Given the description of an element on the screen output the (x, y) to click on. 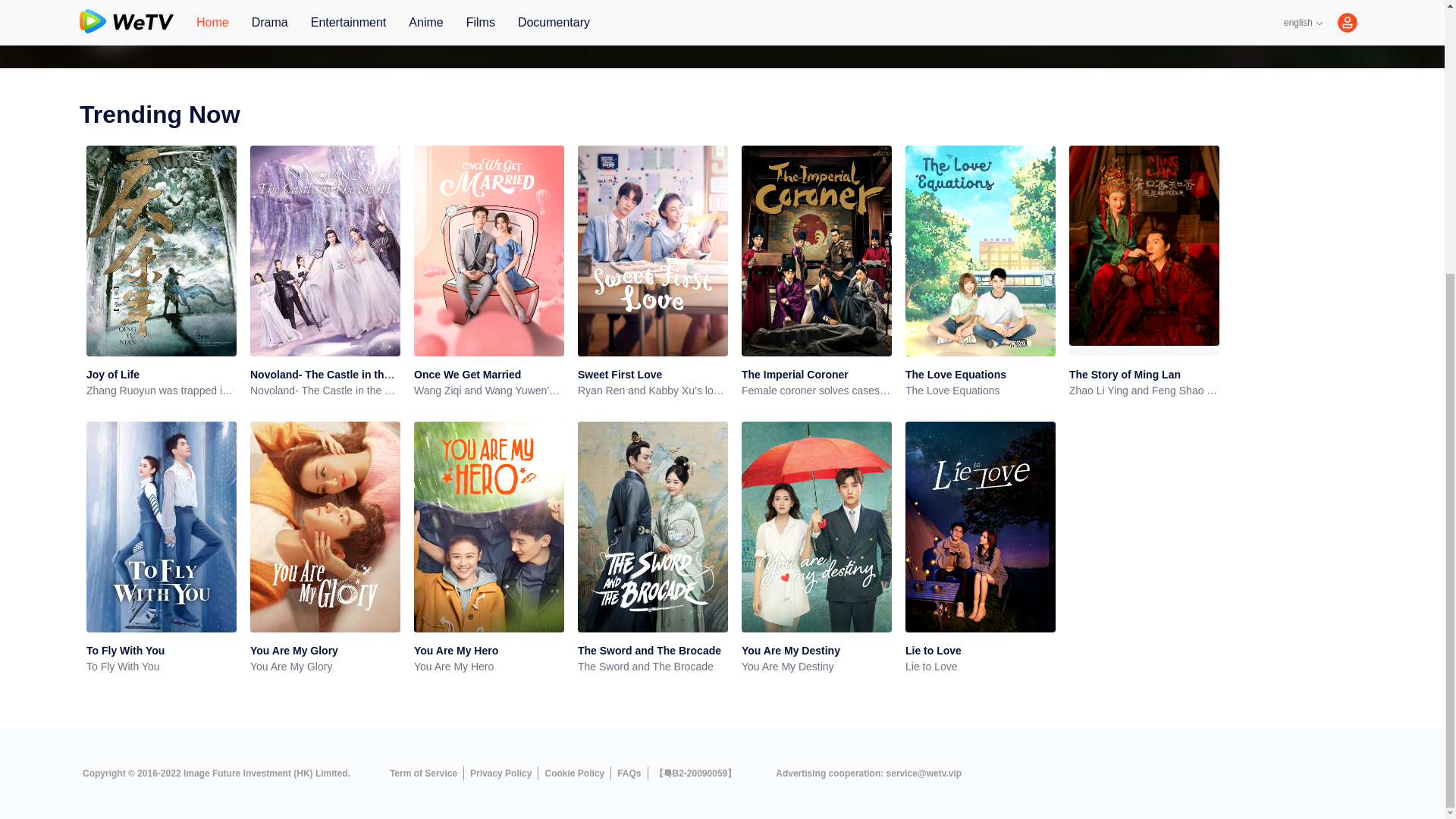
Novoland- The Castle in the Sky S2 (339, 374)
You Are My Glory (293, 650)
The Love Equations (955, 374)
The Story of Ming Lan (1124, 374)
Sweet First Love (620, 374)
Sweet First Love (620, 374)
The Love Equations (980, 390)
The Imperial Coroner (794, 374)
Cute Programmer (1001, 33)
Female coroner solves cases with conservative lord (816, 390)
The Story of Ming Lan (1124, 374)
Novoland- The Castle in the Sky S2 (339, 374)
Zhang Ruoyun was trapped in court with a risky life (160, 390)
You Are My Hero (455, 650)
A Female Student Arrives at the Imperial College (553, 33)
